Given the description of an element on the screen output the (x, y) to click on. 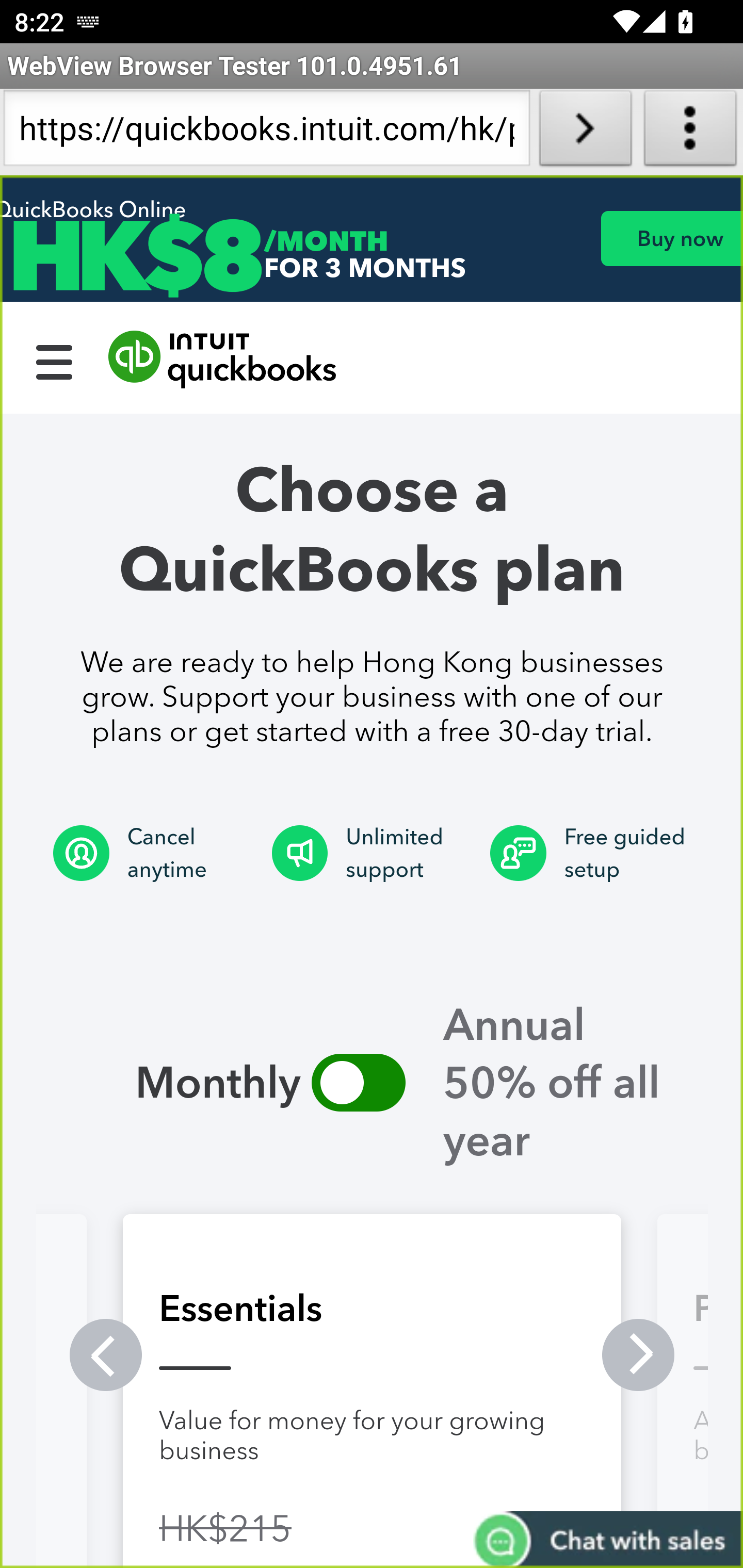
https://quickbooks.intuit.com/hk/pricing/ (266, 132)
Load URL (585, 132)
About WebView (690, 132)
Buy now (671, 238)
quickbooks-mobile-burger (54, 359)
quickbooks (222, 359)
Annual 50% off all year (570, 1081)
Monthly (174, 1082)
Monthly  (358, 1081)
